Given the description of an element on the screen output the (x, y) to click on. 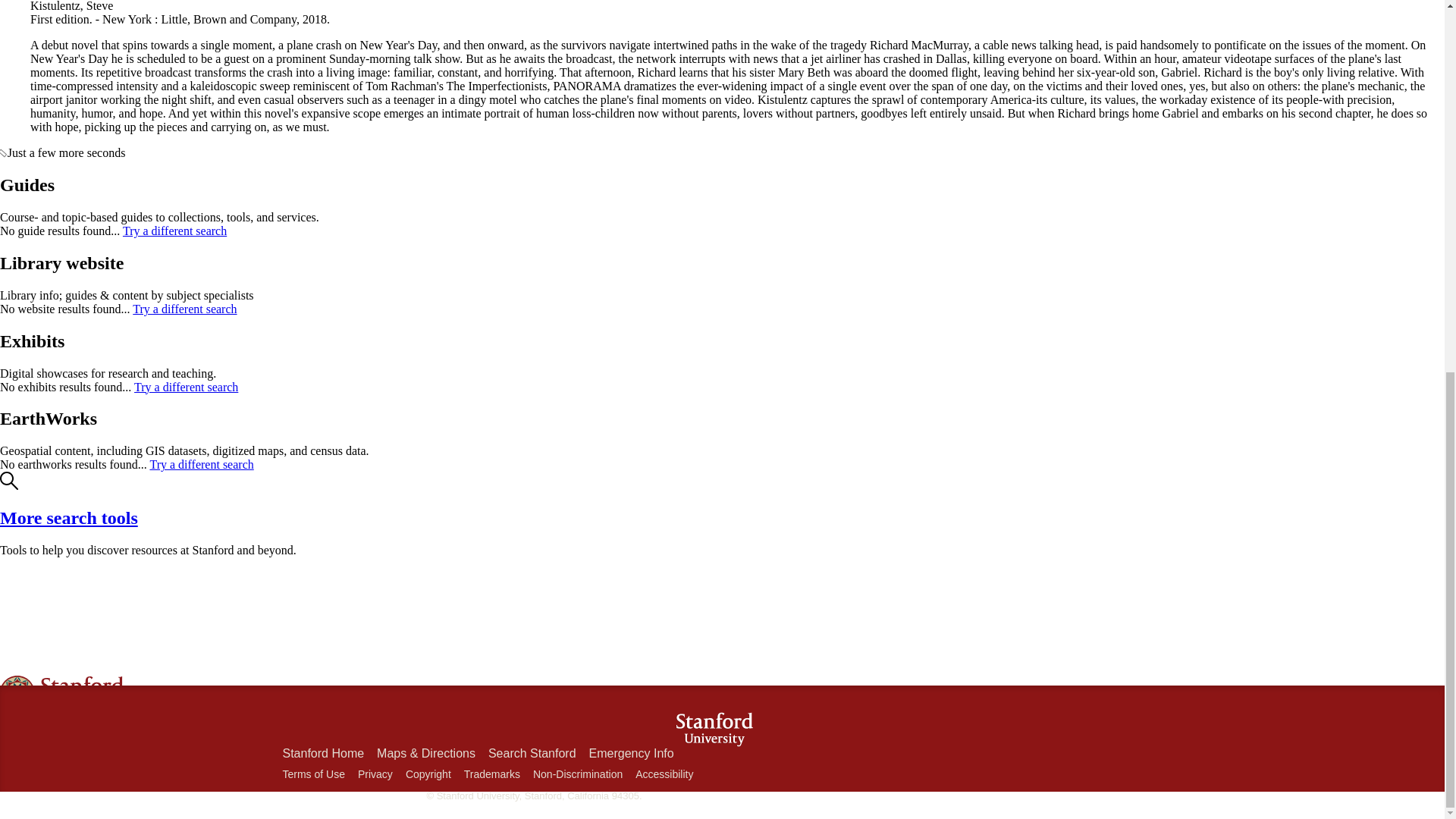
Try a different search (183, 308)
My Account (60, 744)
Try a different search (201, 463)
Try a different search (185, 386)
Ask us (47, 758)
Emergency Info (631, 753)
Search Stanford (531, 753)
Stanford Home (323, 753)
Report web accessibility issues (663, 774)
Copyright (428, 774)
Report alleged copyright infringement (428, 774)
Ownership and use of Stanford trademarks and images (491, 774)
Privacy and cookie policy (375, 774)
Non-discrimination policy (577, 774)
System status (63, 771)
